Given the description of an element on the screen output the (x, y) to click on. 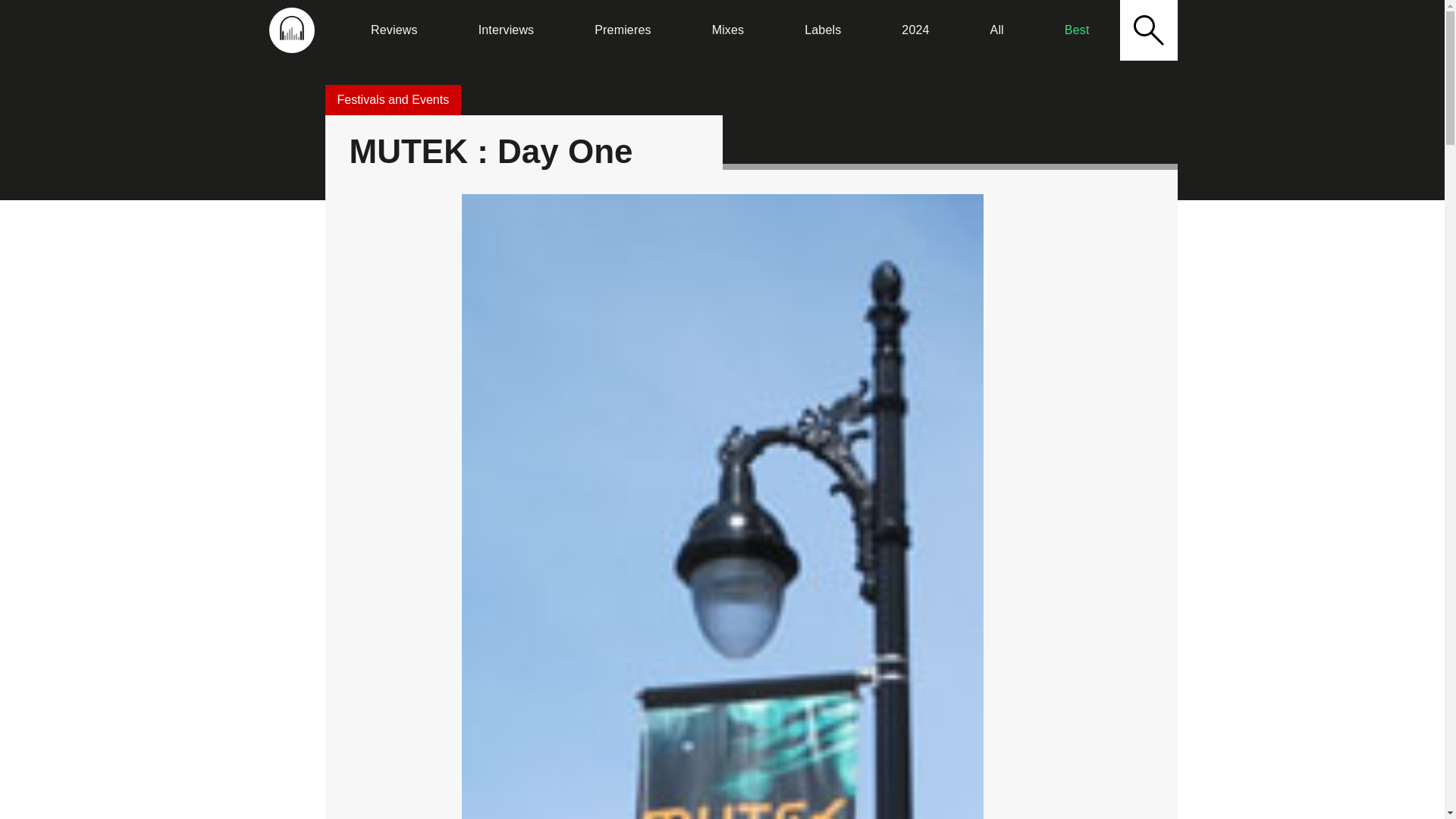
2024 (914, 30)
Premieres (622, 30)
Interviews (505, 30)
Festivals and Events (392, 100)
Best (1077, 30)
Labels (822, 30)
Mixes (728, 30)
Reviews (394, 30)
